Given the description of an element on the screen output the (x, y) to click on. 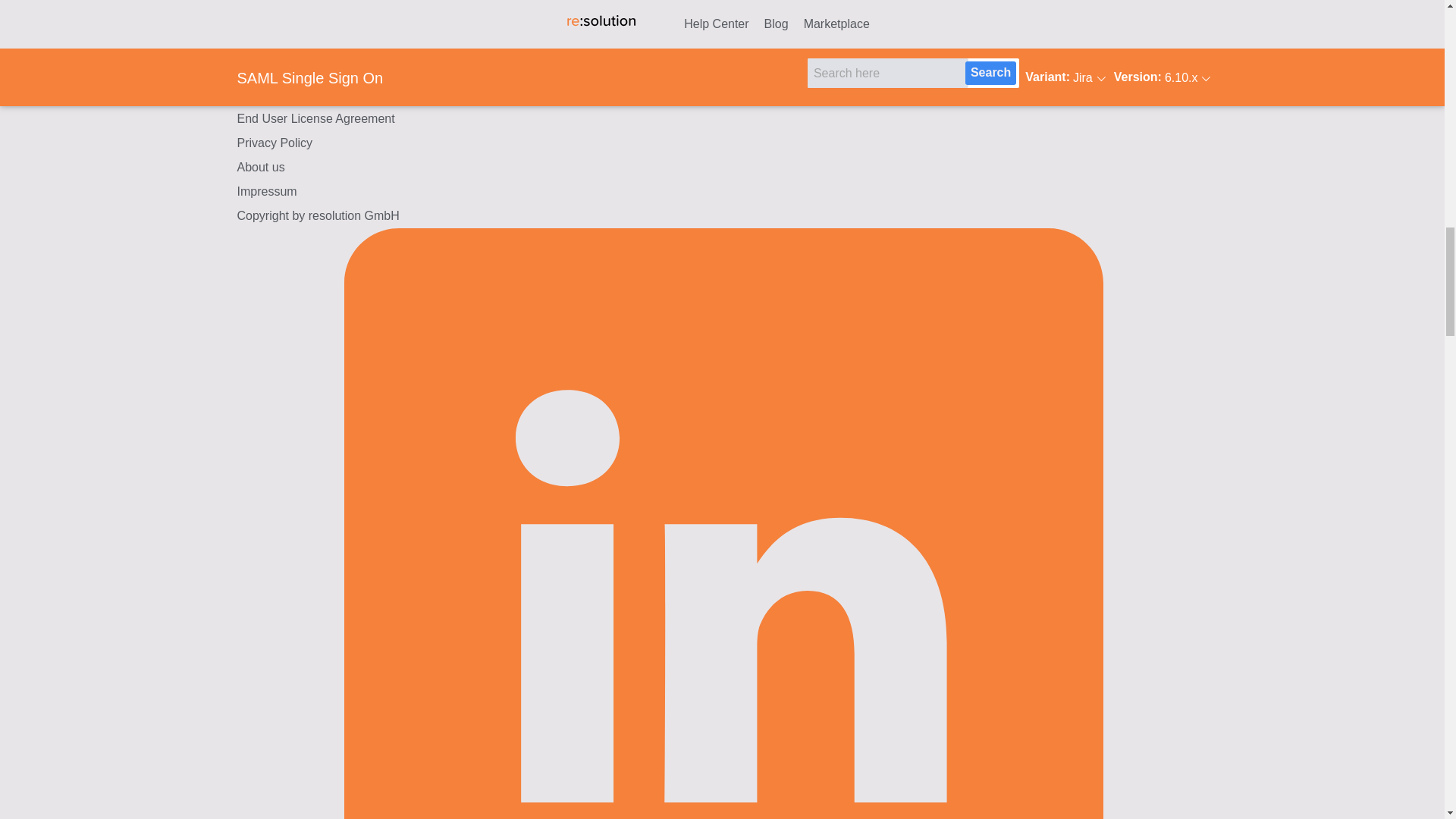
Join Now (414, 55)
